Given the description of an element on the screen output the (x, y) to click on. 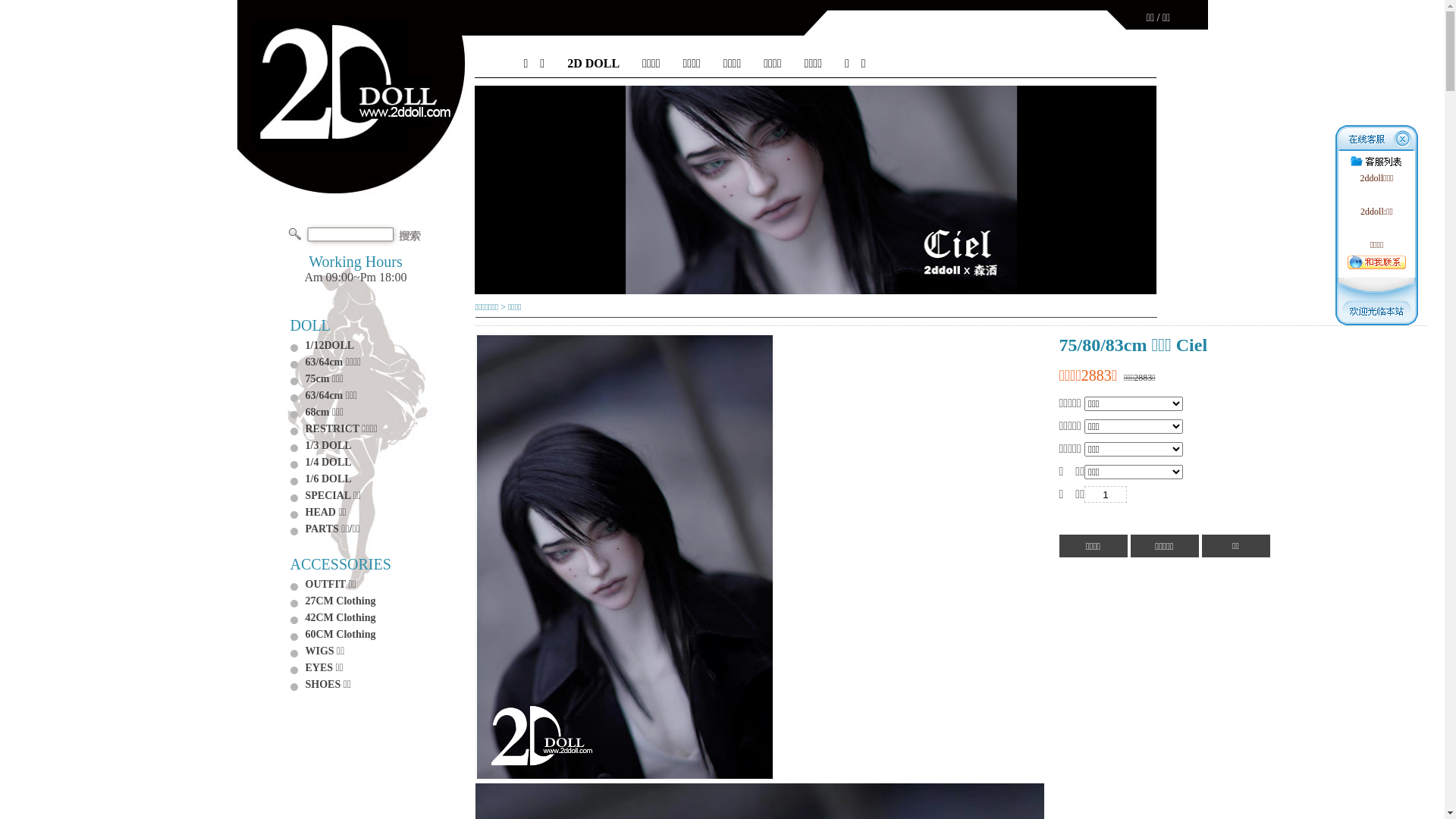
2D DOLL Element type: text (592, 63)
60CM Clothing Element type: text (339, 634)
27CM Clothing Element type: text (339, 600)
1/3 DOLL Element type: text (327, 445)
42CM Clothing Element type: text (339, 617)
1/4 DOLL Element type: text (327, 461)
1/6 DOLL Element type: text (327, 478)
1/12DOLL Element type: text (329, 345)
